Given the description of an element on the screen output the (x, y) to click on. 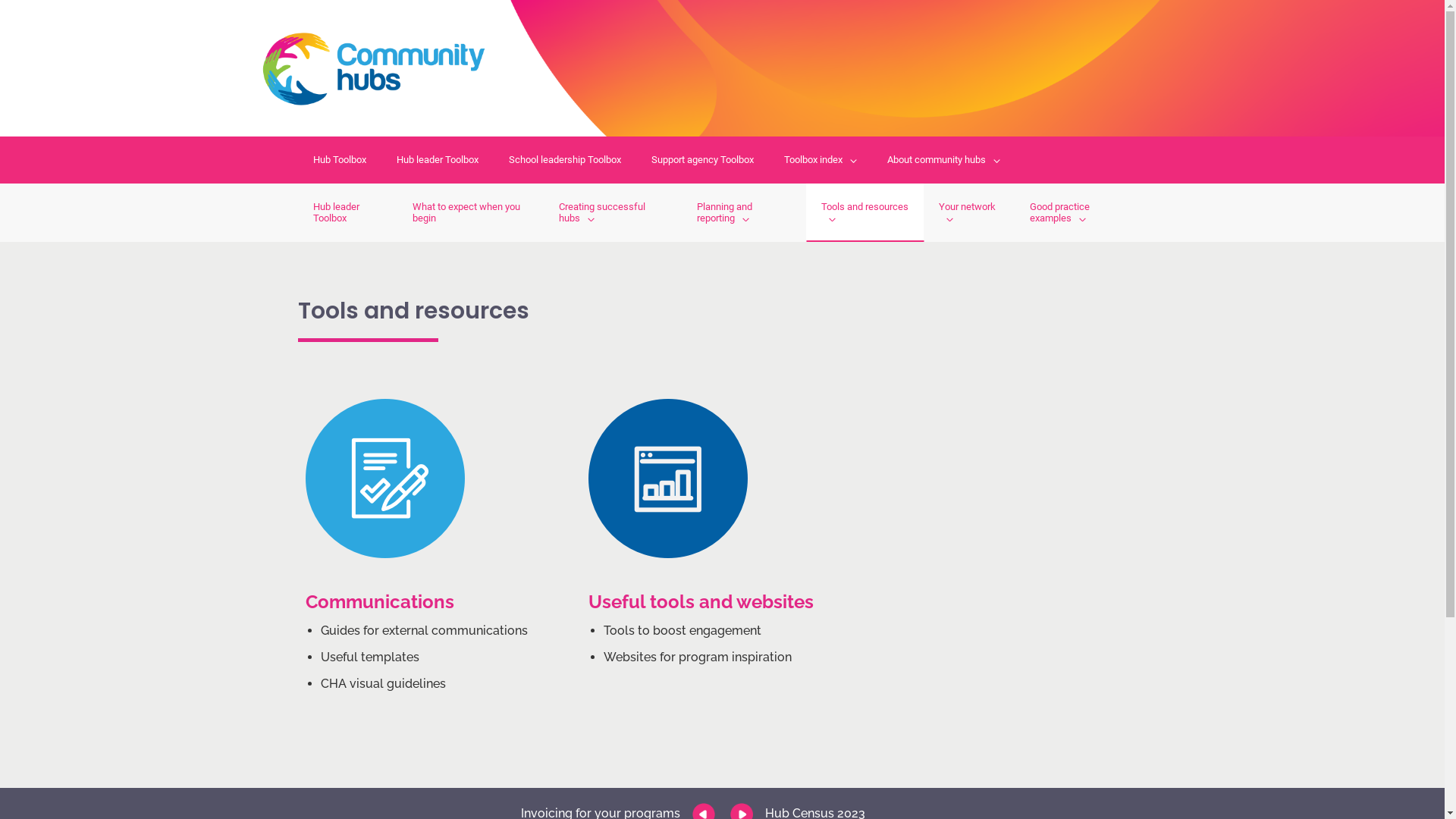
Support agency Toolbox Element type: text (701, 159)
School leadership Toolbox Element type: text (563, 159)
Hub Toolbox Element type: text (338, 159)
Toolbox index Element type: text (820, 159)
Hub leader Toolbox Element type: text (347, 212)
Hub leader Toolbox Element type: text (436, 159)
Tools and resources Element type: text (864, 212)
About community hubs Element type: text (943, 159)
What to expect when you begin Element type: text (469, 212)
Planning and reporting Element type: text (743, 212)
Your network Element type: text (968, 212)
Good practice examples Element type: text (1080, 212)
Creating successful hubs Element type: text (612, 212)
Useful tools and websites Element type: text (700, 601)
Communications Element type: text (378, 601)
